Given the description of an element on the screen output the (x, y) to click on. 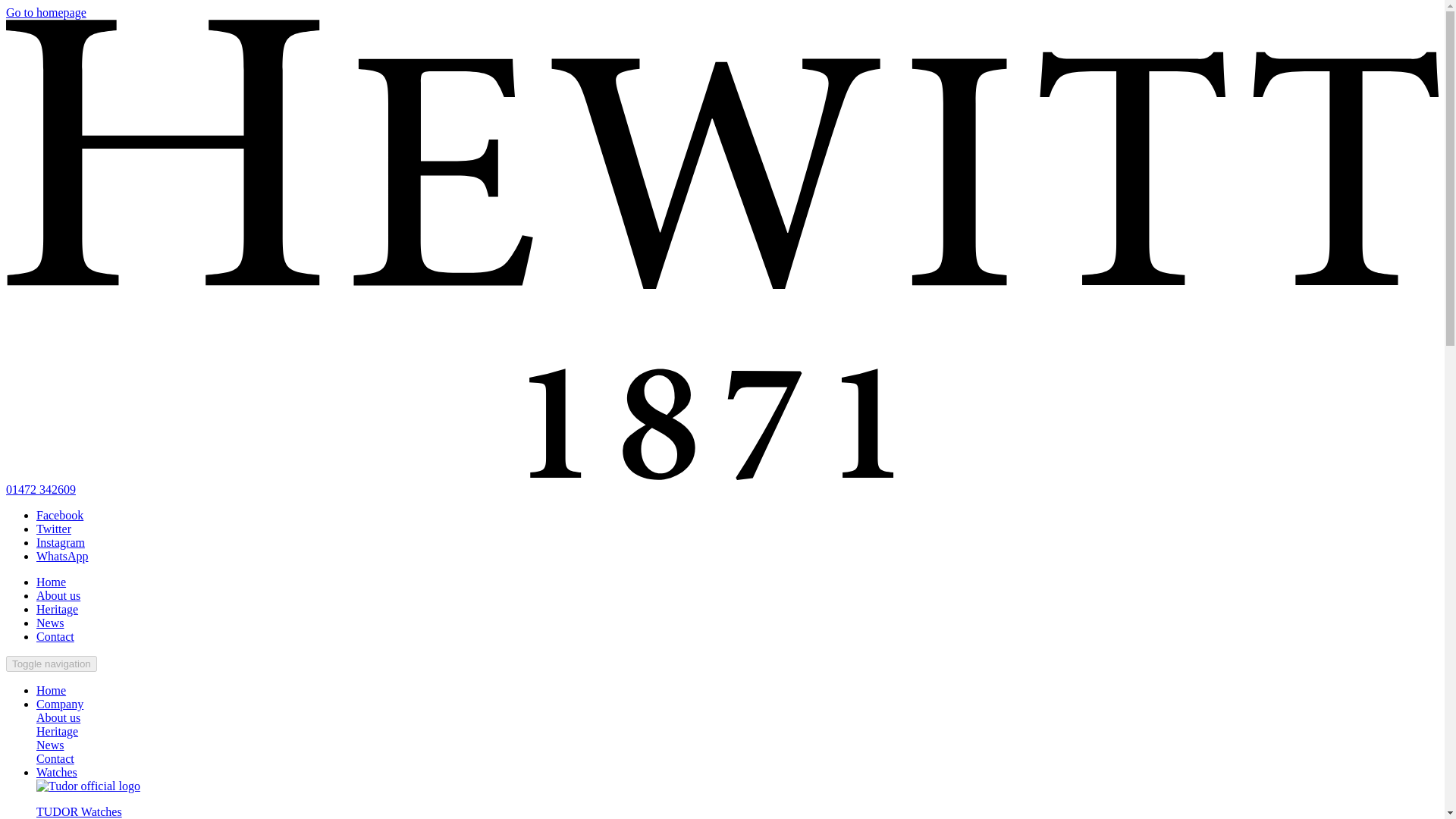
Toggle navigation (51, 663)
About us (58, 594)
Speak to us on WhatsApp (61, 555)
About us (58, 717)
News (50, 622)
Heritage (57, 608)
Company (59, 703)
News (50, 622)
Home (50, 689)
Watches (56, 771)
Visit our Instagram (60, 542)
Visit our Facebook (59, 514)
WhatsApp (61, 555)
Instagram (60, 542)
News (50, 744)
